Given the description of an element on the screen output the (x, y) to click on. 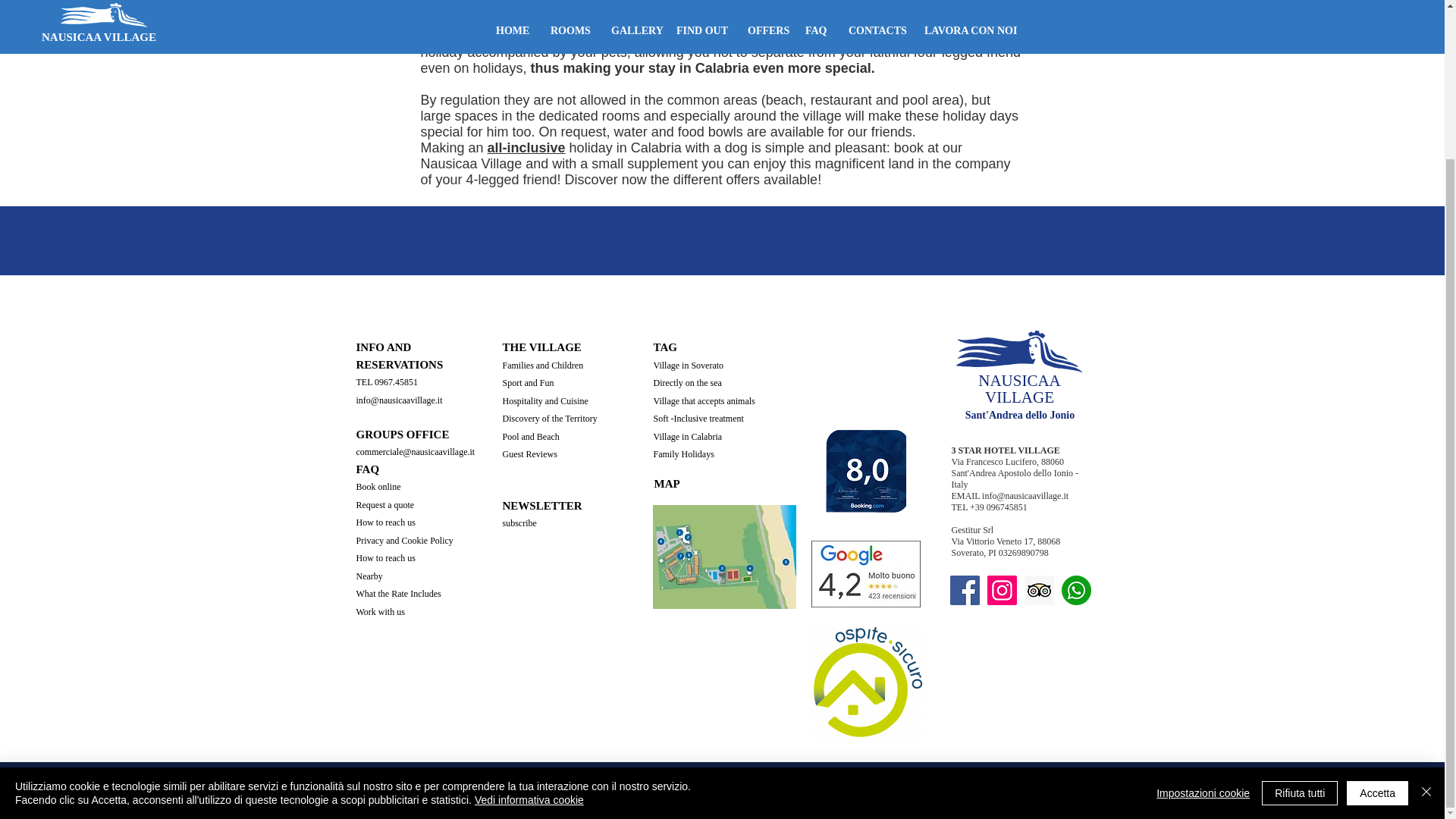
How to reach us (385, 530)
Sport and Fun (527, 382)
Nearby (369, 574)
Work with us (380, 611)
Hospitality and Cuisine (545, 400)
TAG (665, 346)
Guest Reviews (529, 453)
THE VILLAGE (541, 346)
What the Rate Includes (398, 592)
Discovery of the Territory (549, 418)
